Given the description of an element on the screen output the (x, y) to click on. 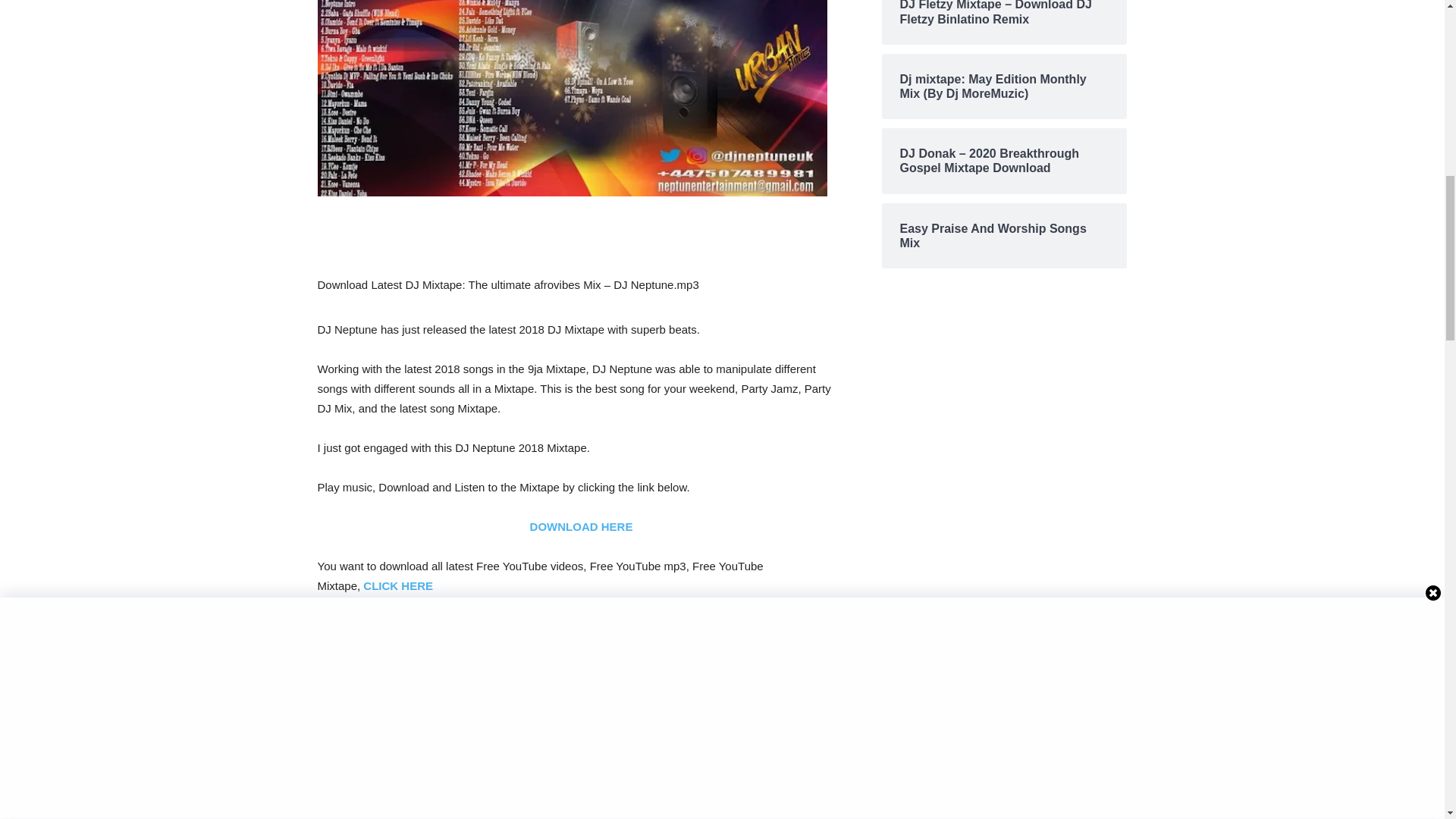
Click to share on Pinterest (589, 695)
Click to share on Twitter (347, 695)
Dj-Neptune-Uk-The-Ultimate-Afrobeat-Vibes (572, 98)
Click to share on WhatsApp (507, 695)
Click to share on Facebook (424, 695)
